Given the description of an element on the screen output the (x, y) to click on. 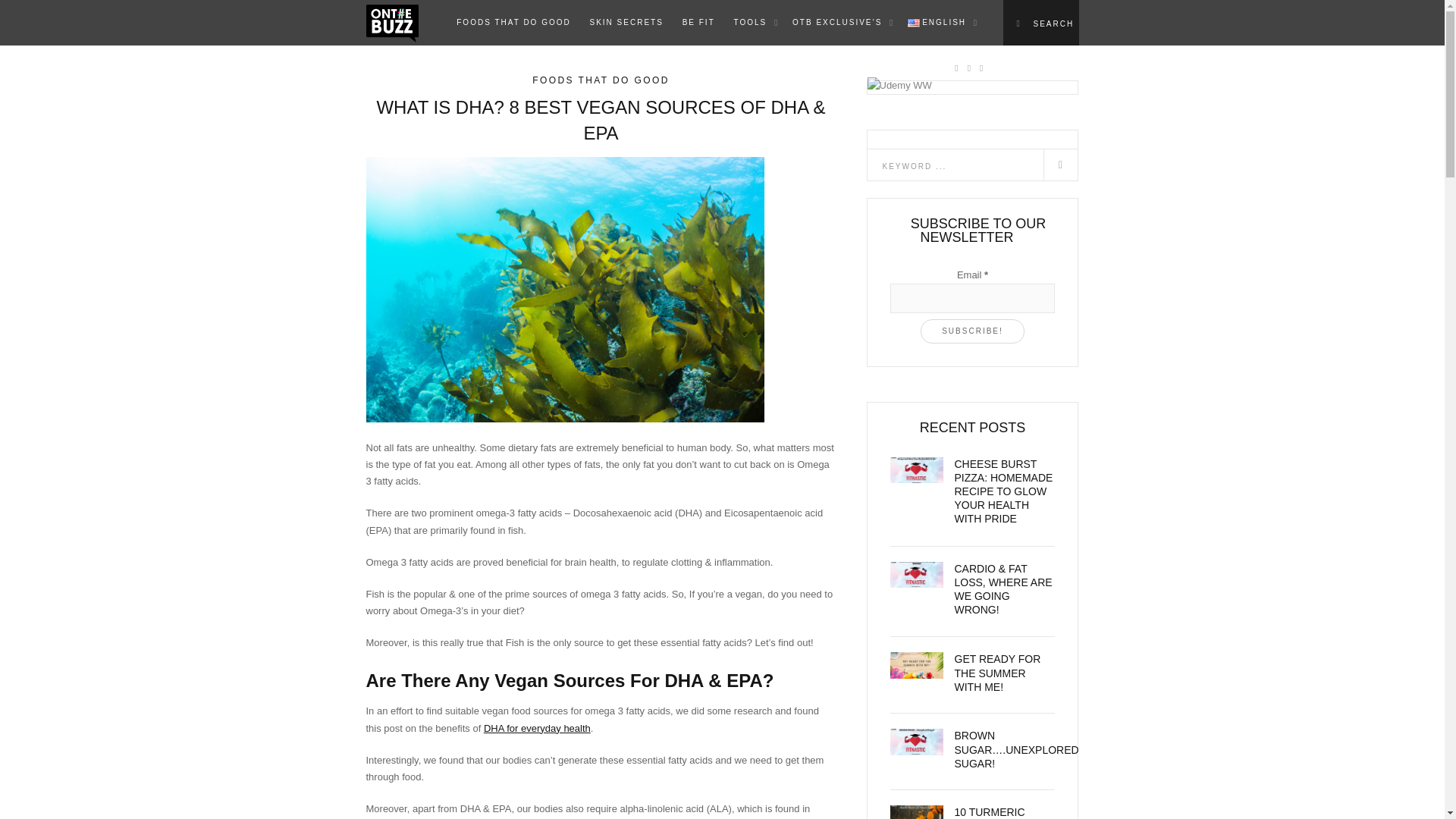
Subscribe! (972, 331)
SKIN SECRETS (626, 22)
Email (972, 297)
FOODS THAT DO GOOD (513, 22)
View all posts in Foods That Do Good (600, 80)
